Given the description of an element on the screen output the (x, y) to click on. 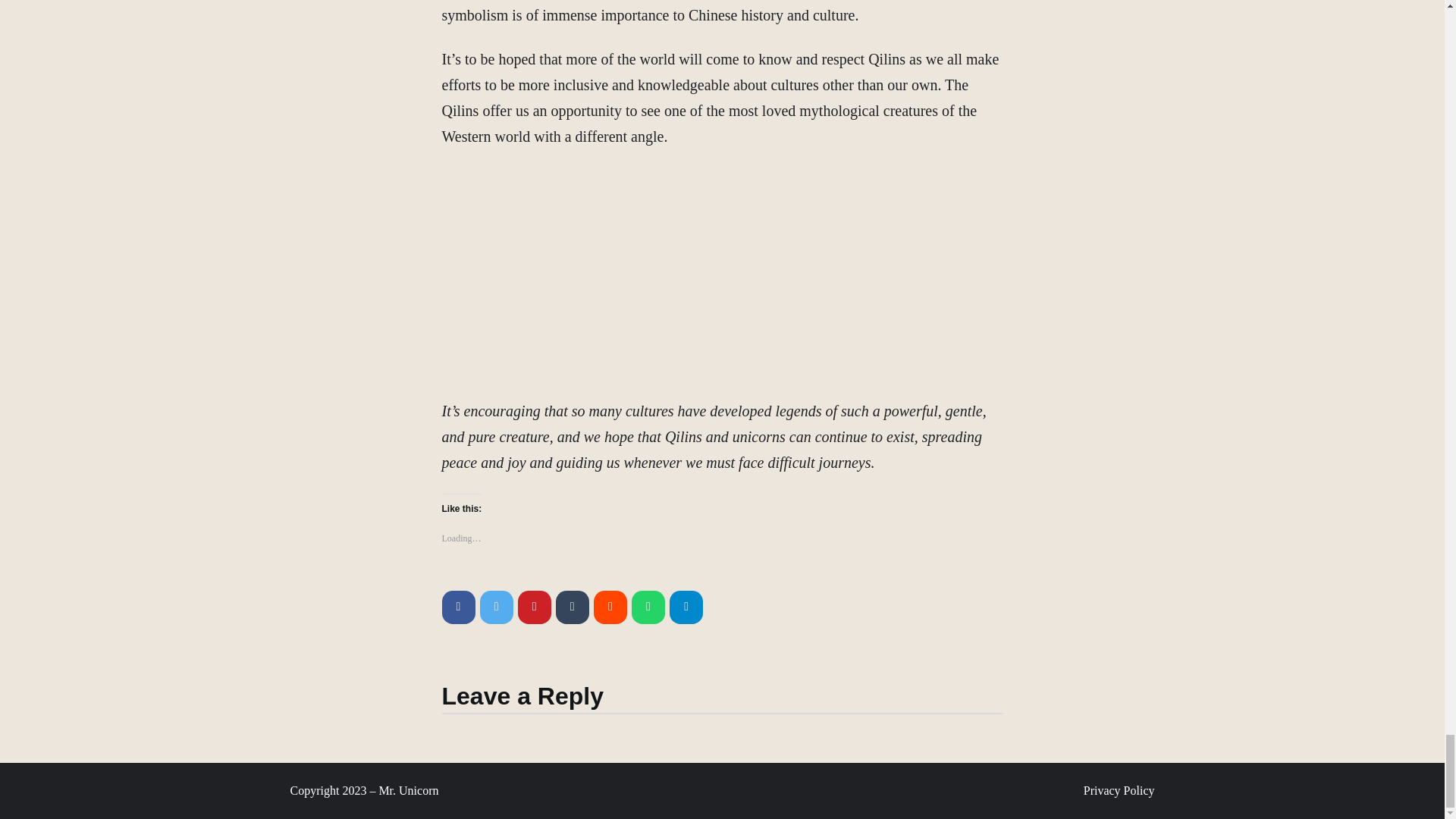
Privacy Policy (1118, 790)
